Given the description of an element on the screen output the (x, y) to click on. 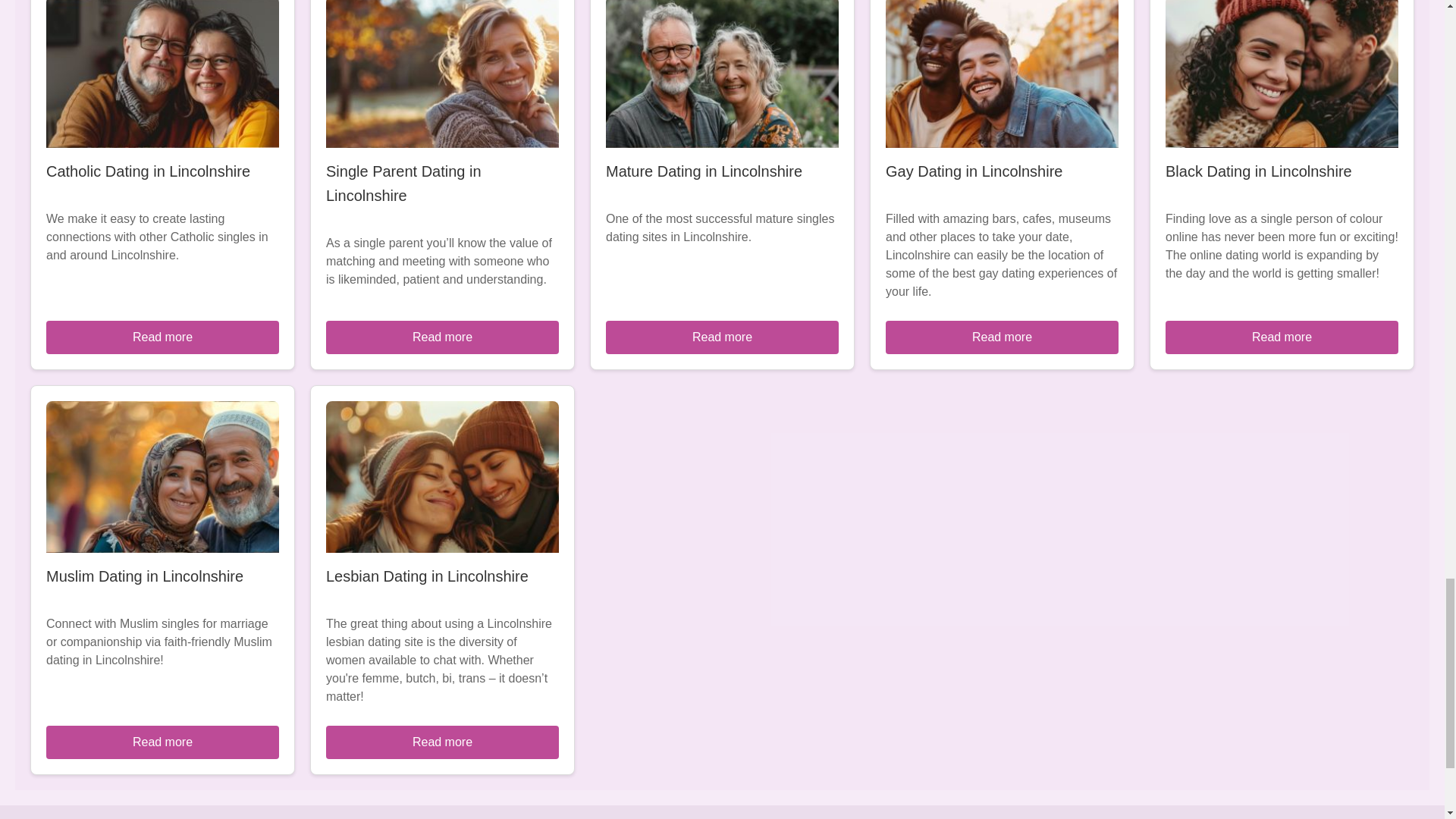
Read more (1281, 337)
Read more (162, 337)
Read more (442, 337)
Read more (162, 742)
Read more (721, 337)
Read more (442, 742)
Read more (1001, 337)
